Given the description of an element on the screen output the (x, y) to click on. 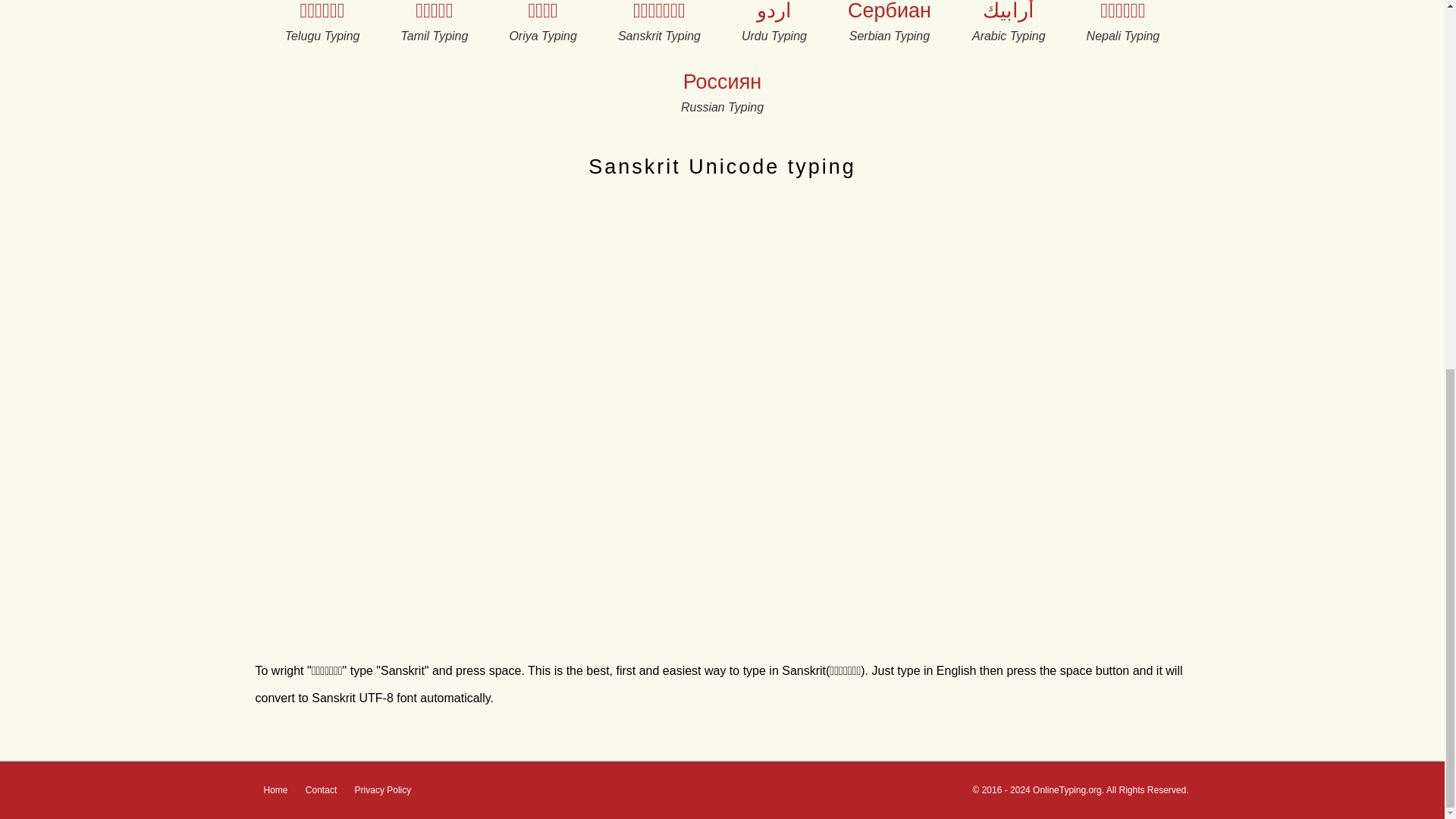
Privacy Policy (383, 789)
Privacy Policy (383, 789)
Contact Us (320, 789)
Home (275, 789)
Home (275, 789)
Contact (320, 789)
